Given the description of an element on the screen output the (x, y) to click on. 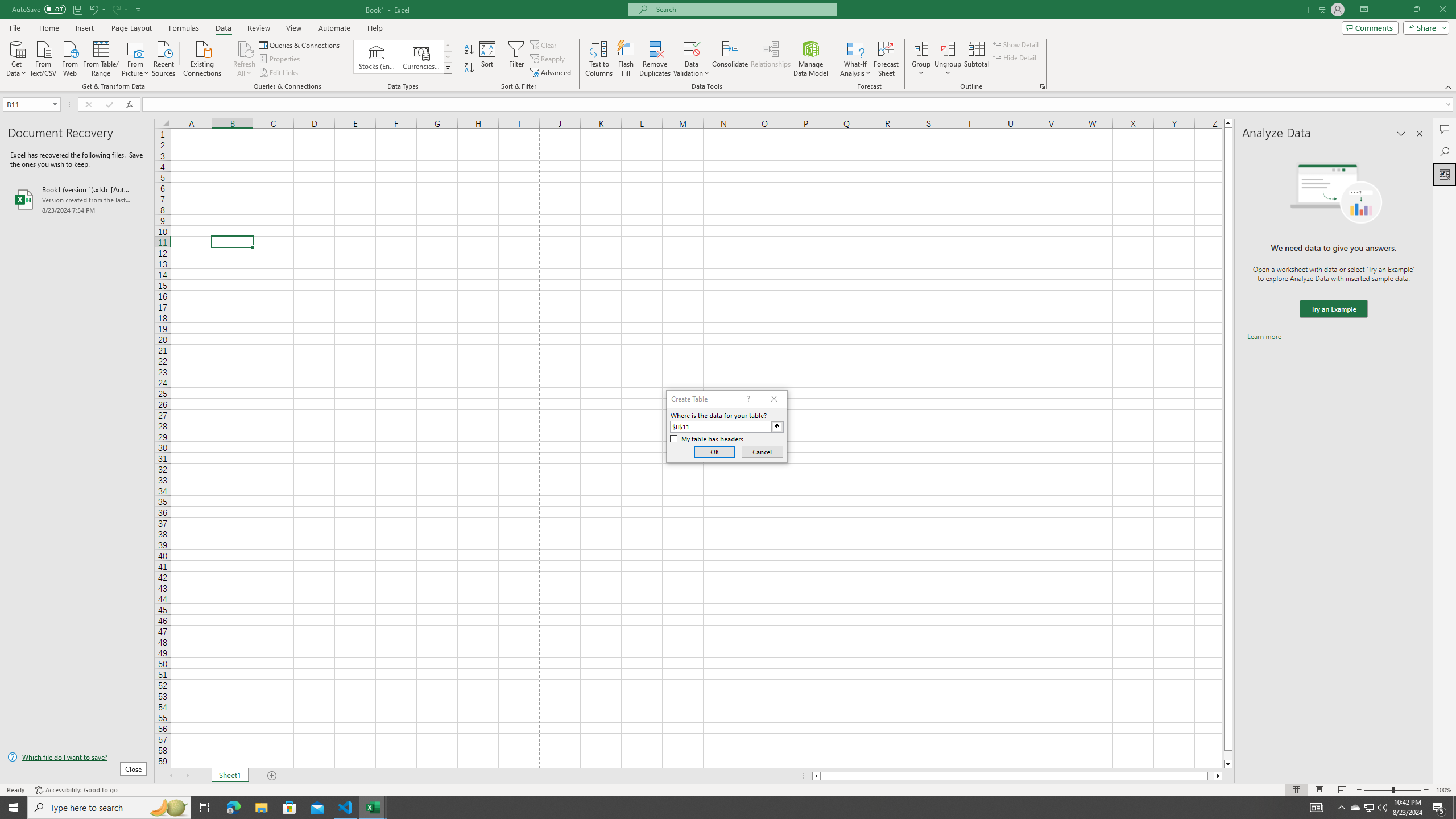
Refresh All (244, 48)
Customize Quick Access Toolbar (139, 9)
Class: MsoCommandBar (728, 45)
Get Data (16, 57)
Sort Z to A (469, 67)
Hide Detail (1014, 56)
Review (258, 28)
Task Pane Options (1400, 133)
Open (54, 104)
Edit Links (279, 72)
Help (374, 28)
Book1 (version 1).xlsb  [AutoRecovered] (77, 199)
